Given the description of an element on the screen output the (x, y) to click on. 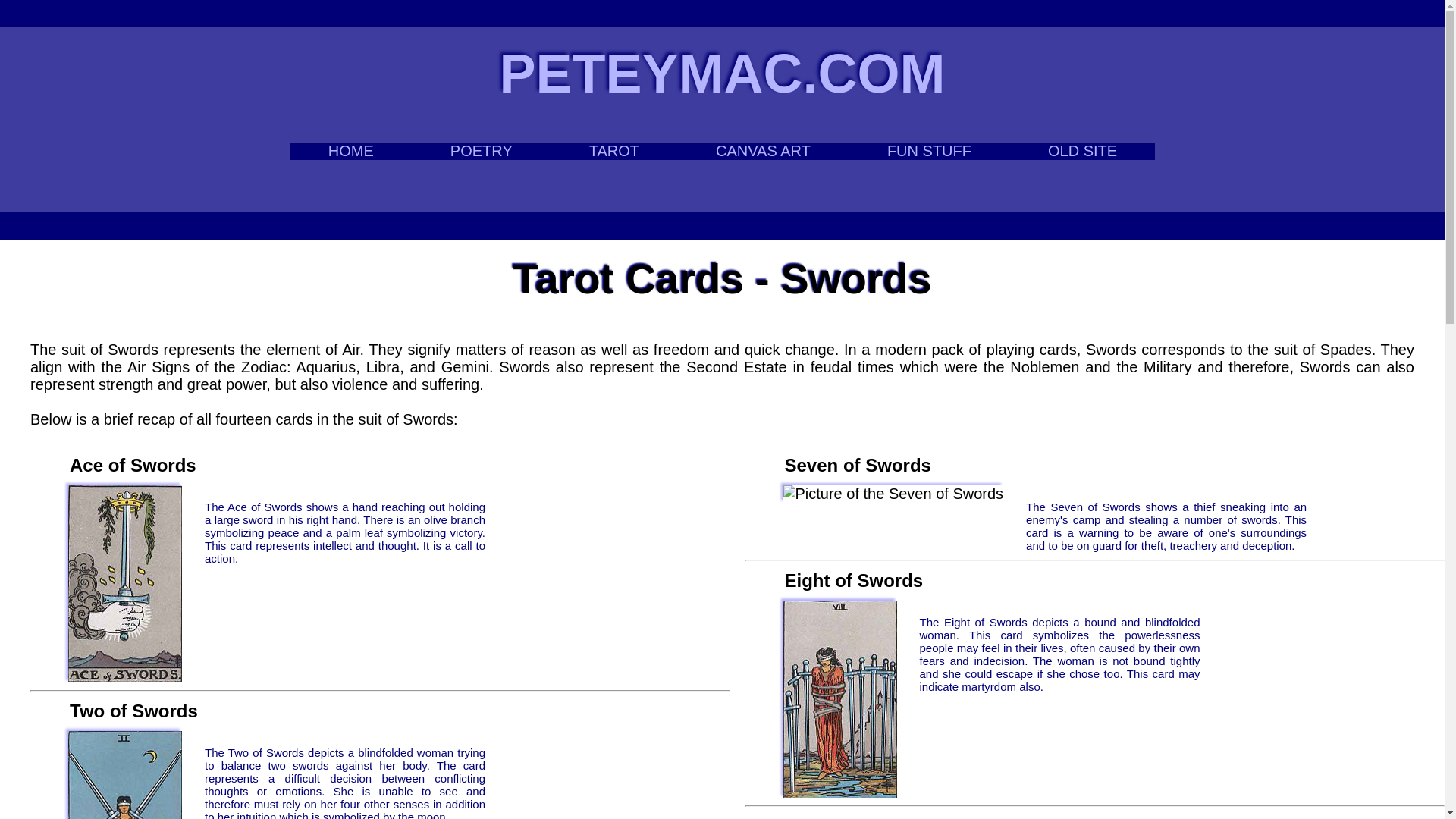
FUN STUFF (928, 150)
HOME (350, 150)
OLD SITE (1081, 150)
TAROT (613, 150)
CANVAS ART (762, 150)
POETRY (481, 150)
